Given the description of an element on the screen output the (x, y) to click on. 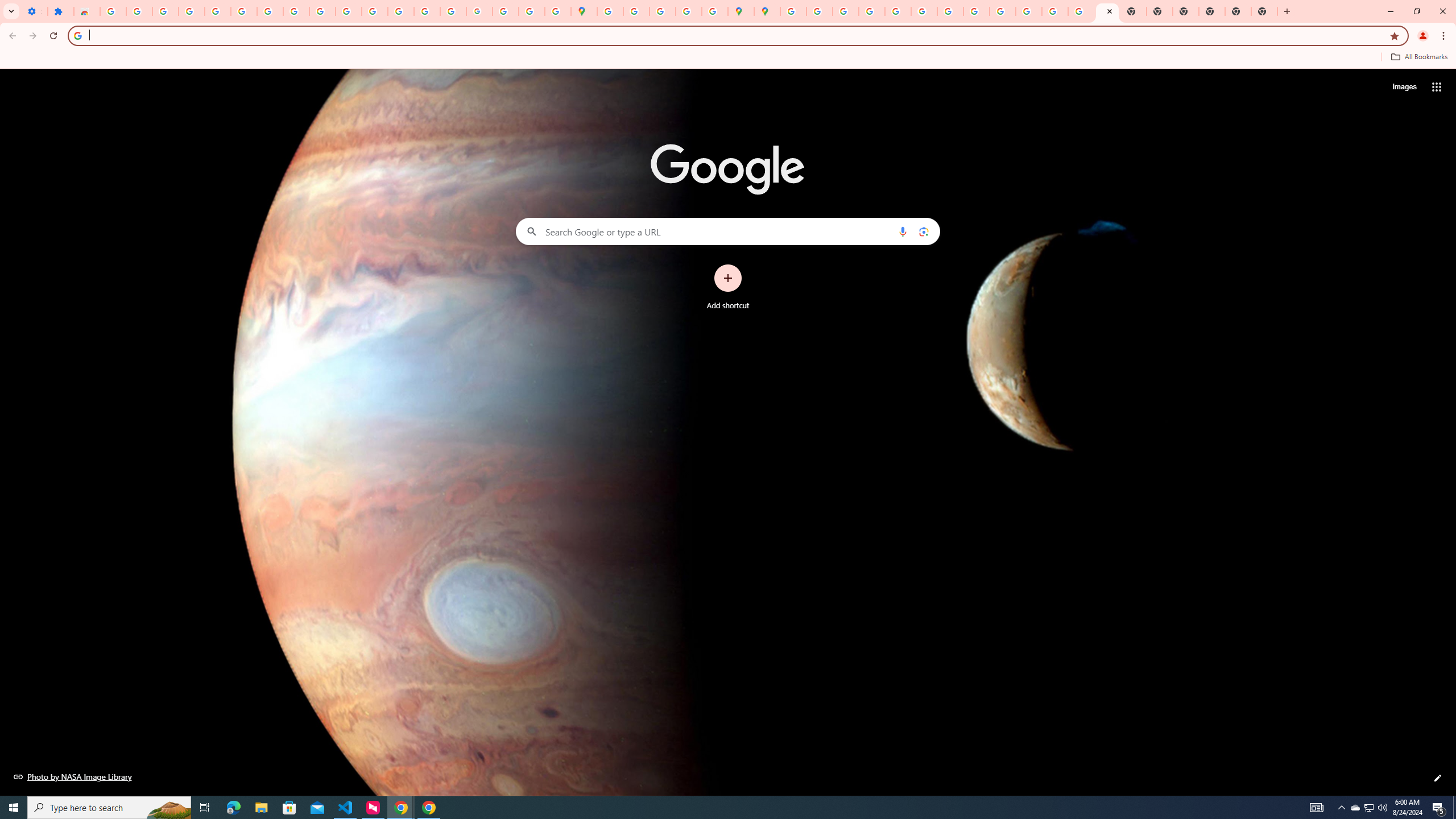
New Tab (1185, 11)
Sign in - Google Accounts (112, 11)
Safety in Our Products - Google Safety Center (715, 11)
Photo by NASA Image Library (72, 776)
